Given the description of an element on the screen output the (x, y) to click on. 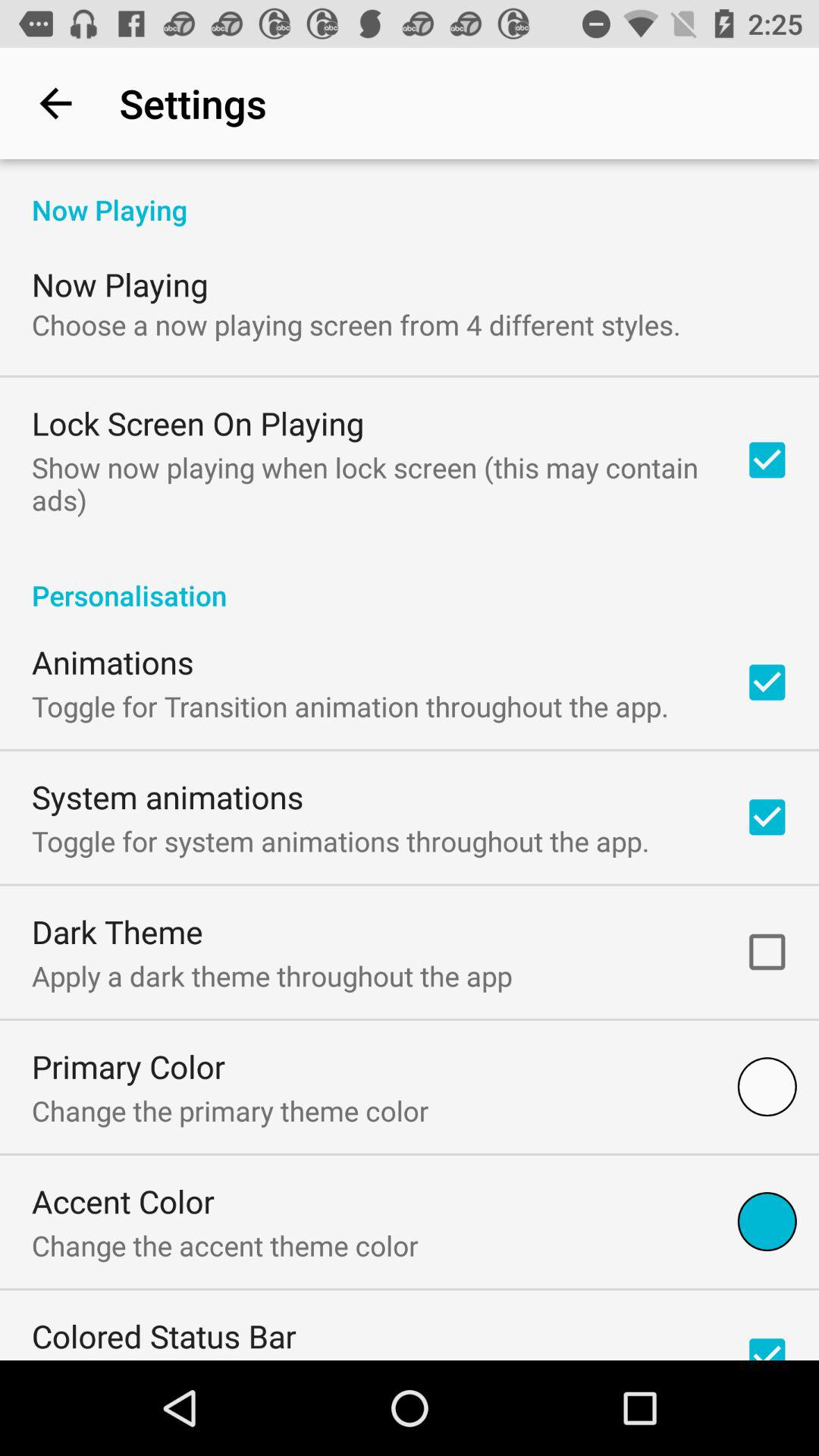
open icon above now playing item (55, 103)
